Given the description of an element on the screen output the (x, y) to click on. 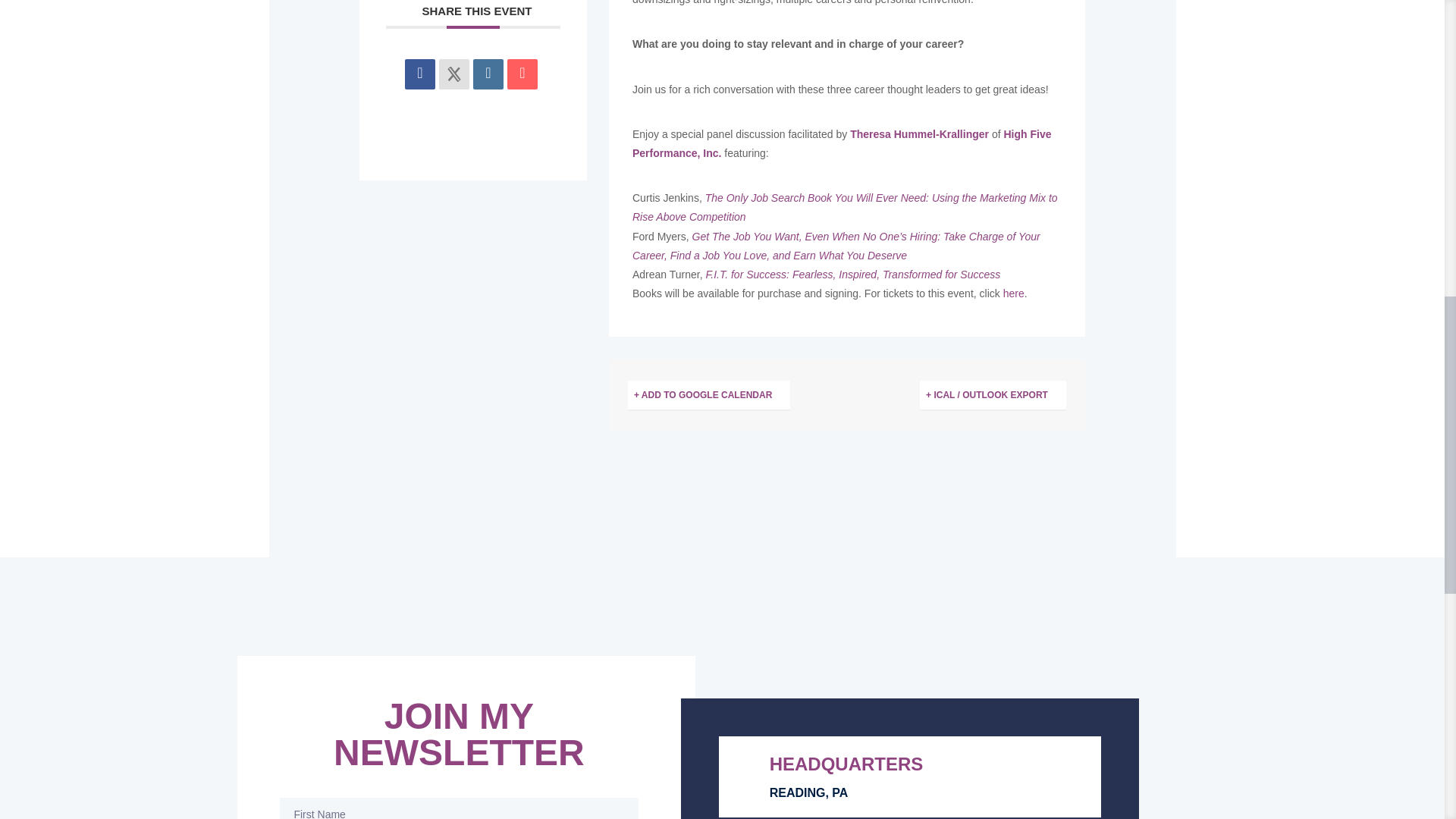
Email (521, 73)
X Social Network (453, 73)
Share on Facebook (419, 73)
High Five Performance, Inc. (841, 142)
here (1014, 293)
Theresa Hummel-Krallinger (919, 133)
Linkedin (488, 73)
